Given the description of an element on the screen output the (x, y) to click on. 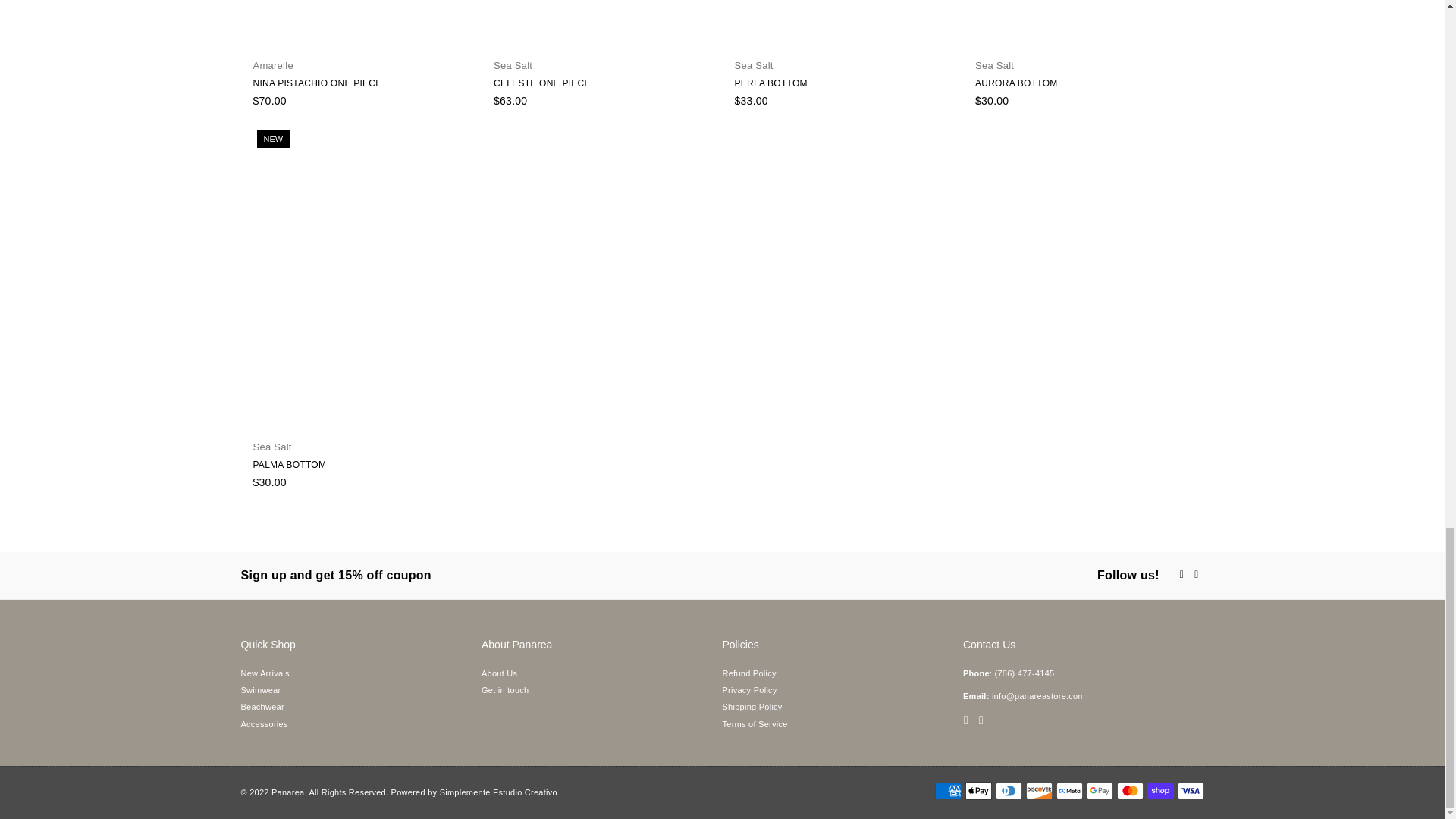
Meta Pay (1068, 791)
Panarea Store on Facebook (966, 719)
Apple Pay (977, 791)
Mastercard (1129, 791)
Diners Club (1008, 791)
Google Pay (1099, 791)
Visa (1190, 791)
Panarea Store on Instagram (981, 719)
American Express (947, 791)
Panarea Store on Instagram (1196, 573)
